Given the description of an element on the screen output the (x, y) to click on. 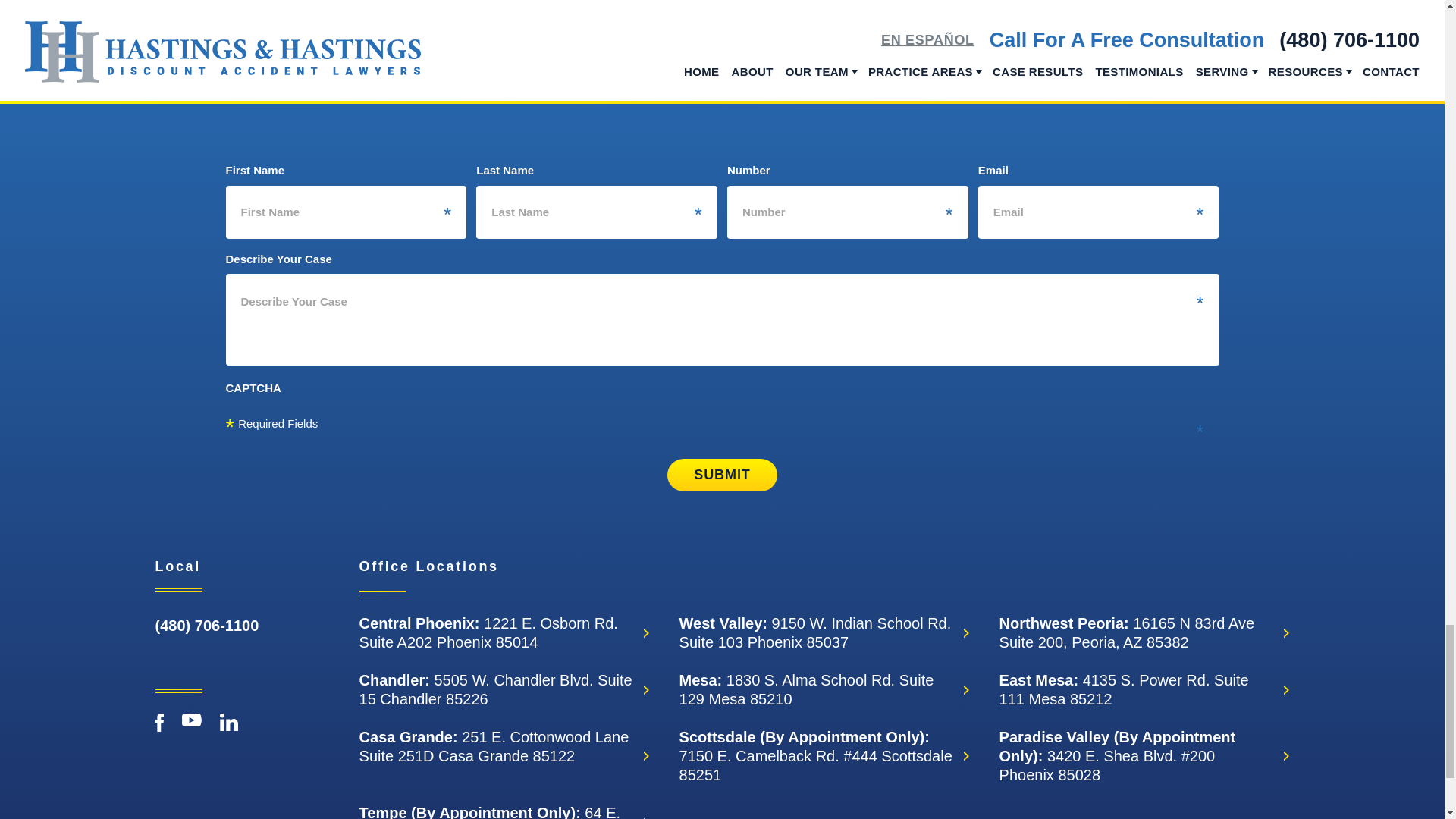
Submit (721, 473)
